Given the description of an element on the screen output the (x, y) to click on. 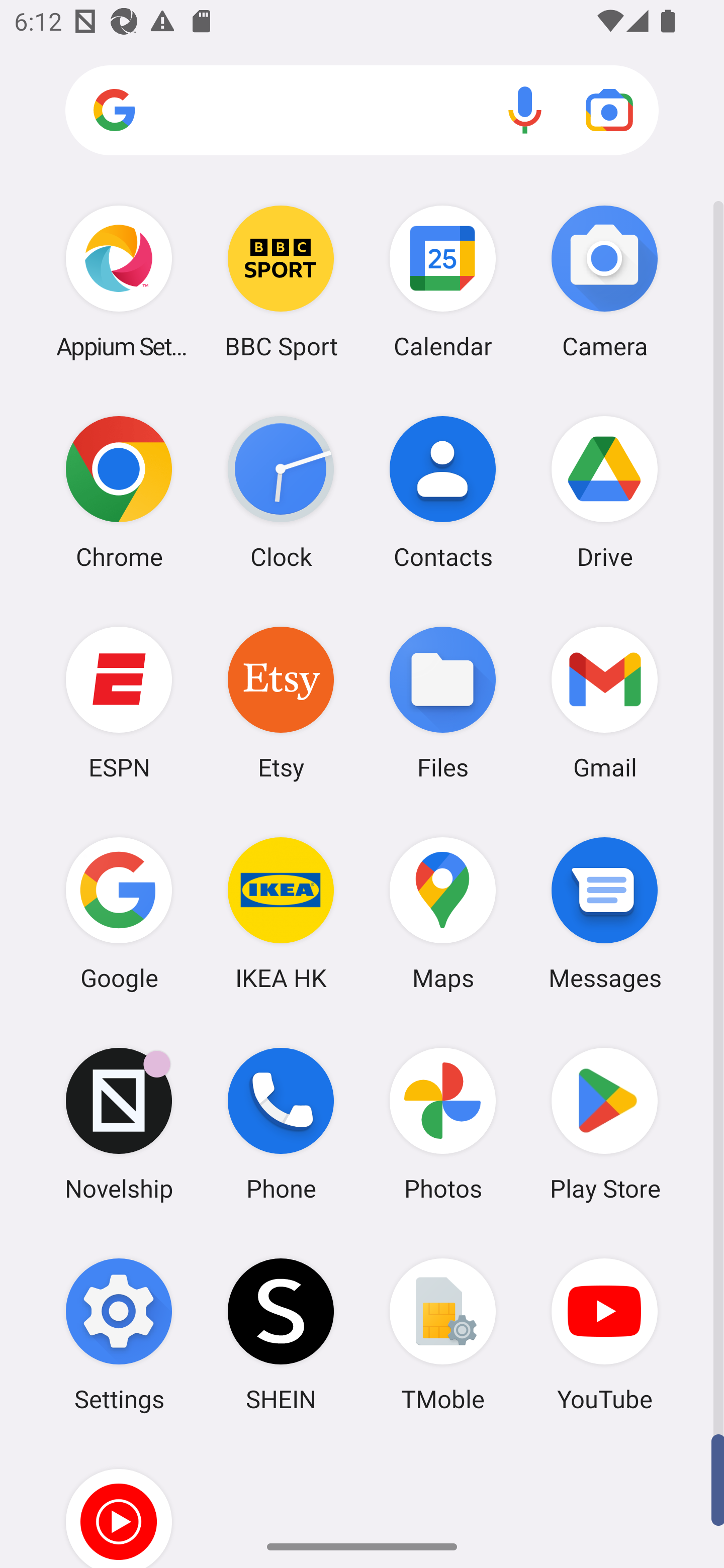
Search apps, web and more (361, 110)
Voice search (524, 109)
Google Lens (608, 109)
Appium Settings (118, 281)
BBC Sport (280, 281)
Calendar (443, 281)
Camera (604, 281)
Chrome (118, 492)
Clock (280, 492)
Contacts (443, 492)
Drive (604, 492)
ESPN (118, 702)
Etsy (280, 702)
Files (443, 702)
Gmail (604, 702)
Google (118, 913)
IKEA HK (280, 913)
Maps (443, 913)
Messages (604, 913)
Novelship Novelship has 2 notifications (118, 1124)
Phone (280, 1124)
Photos (443, 1124)
Play Store (604, 1124)
Settings (118, 1334)
SHEIN (280, 1334)
TMoble (443, 1334)
YouTube (604, 1334)
YT Music (118, 1503)
